Given the description of an element on the screen output the (x, y) to click on. 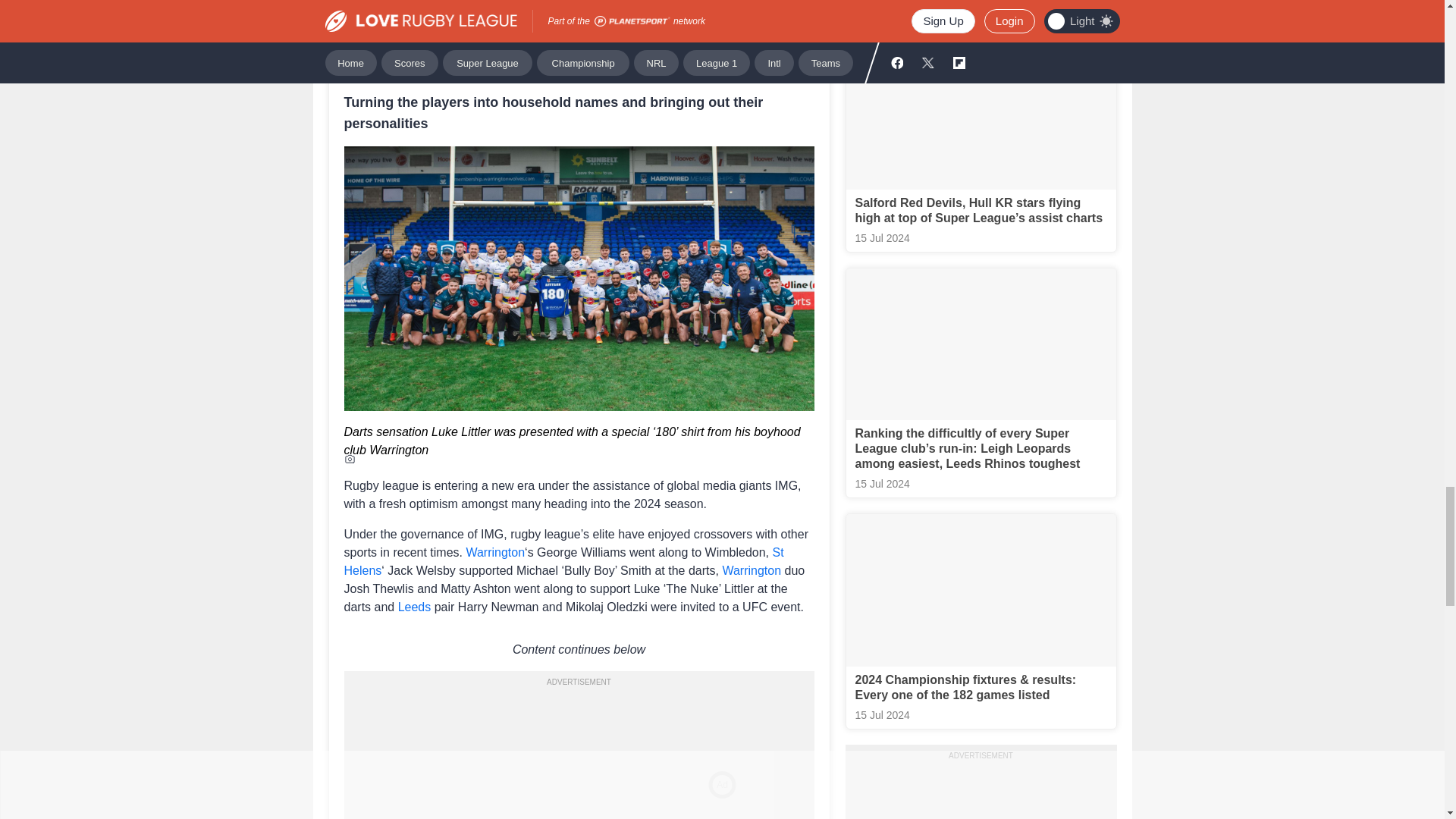
Ad (578, 744)
Content continues below (578, 649)
